Given the description of an element on the screen output the (x, y) to click on. 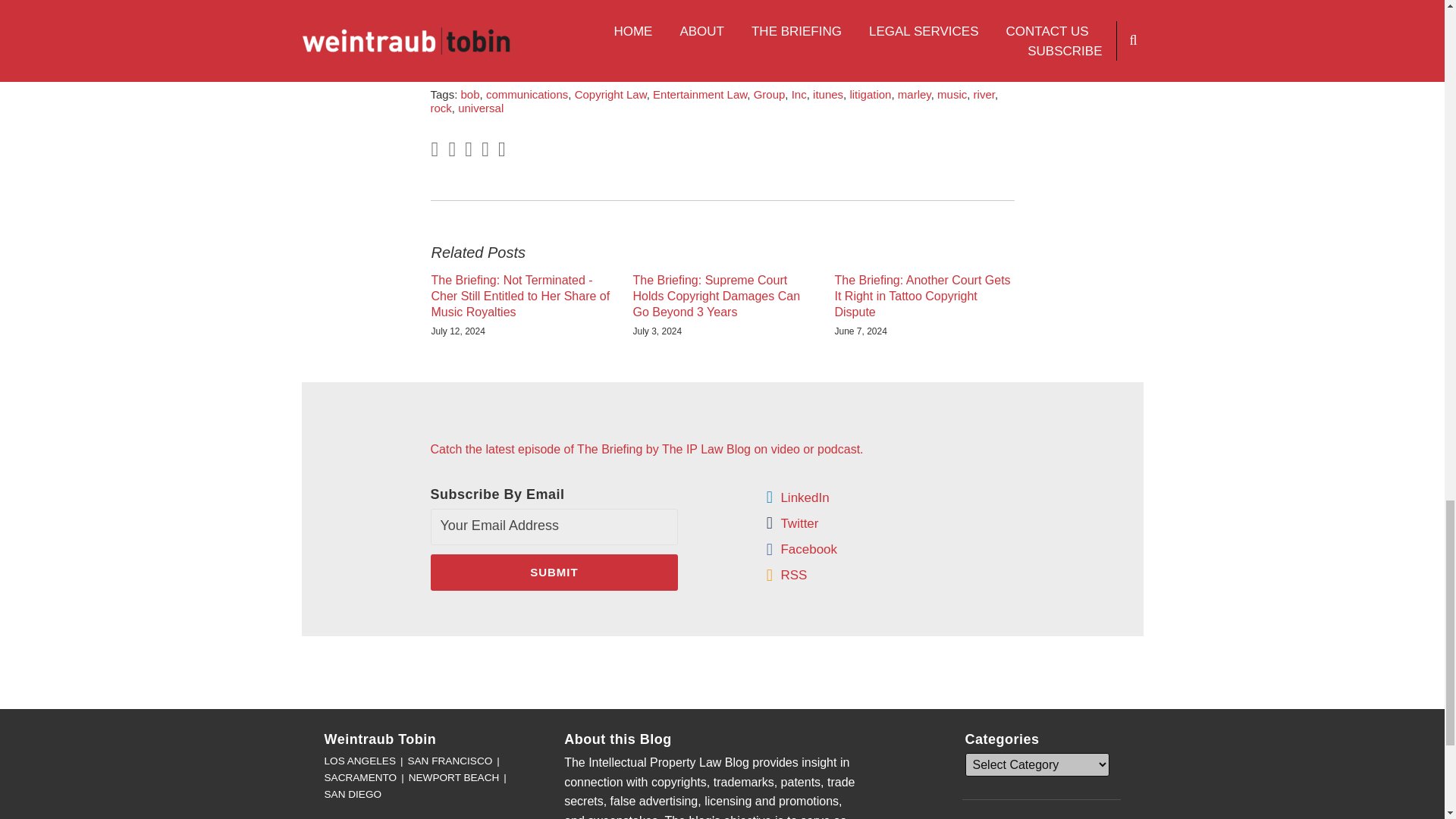
litigation (869, 93)
Inc (799, 93)
communications (526, 93)
universal (480, 107)
rock (440, 107)
Entertainment Law (699, 93)
bob (470, 93)
Copyright Law (610, 93)
Submit (554, 572)
itunes (827, 93)
Submit (554, 572)
river (984, 93)
